Given the description of an element on the screen output the (x, y) to click on. 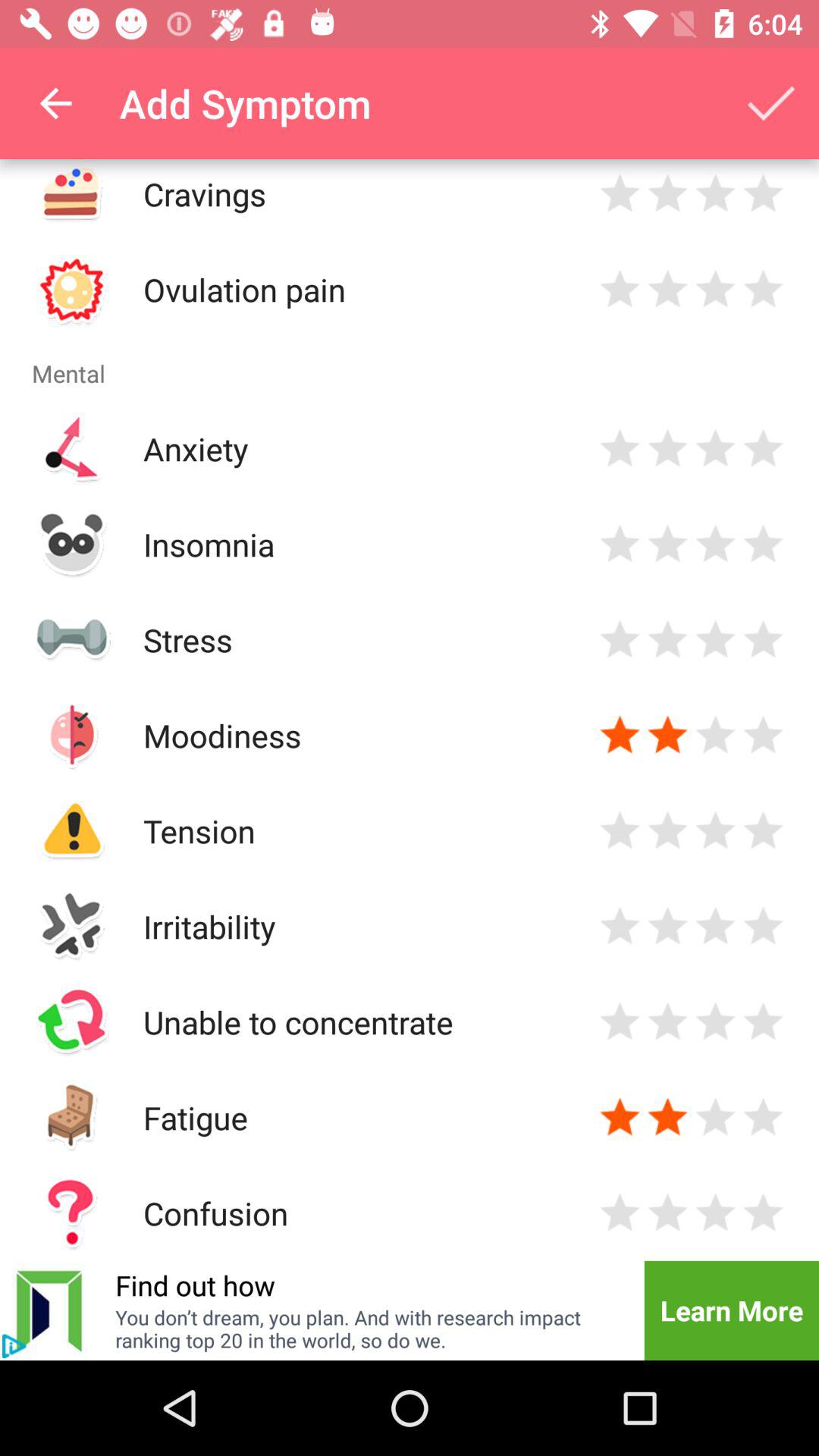
choose app next to the add symptom item (55, 103)
